Given the description of an element on the screen output the (x, y) to click on. 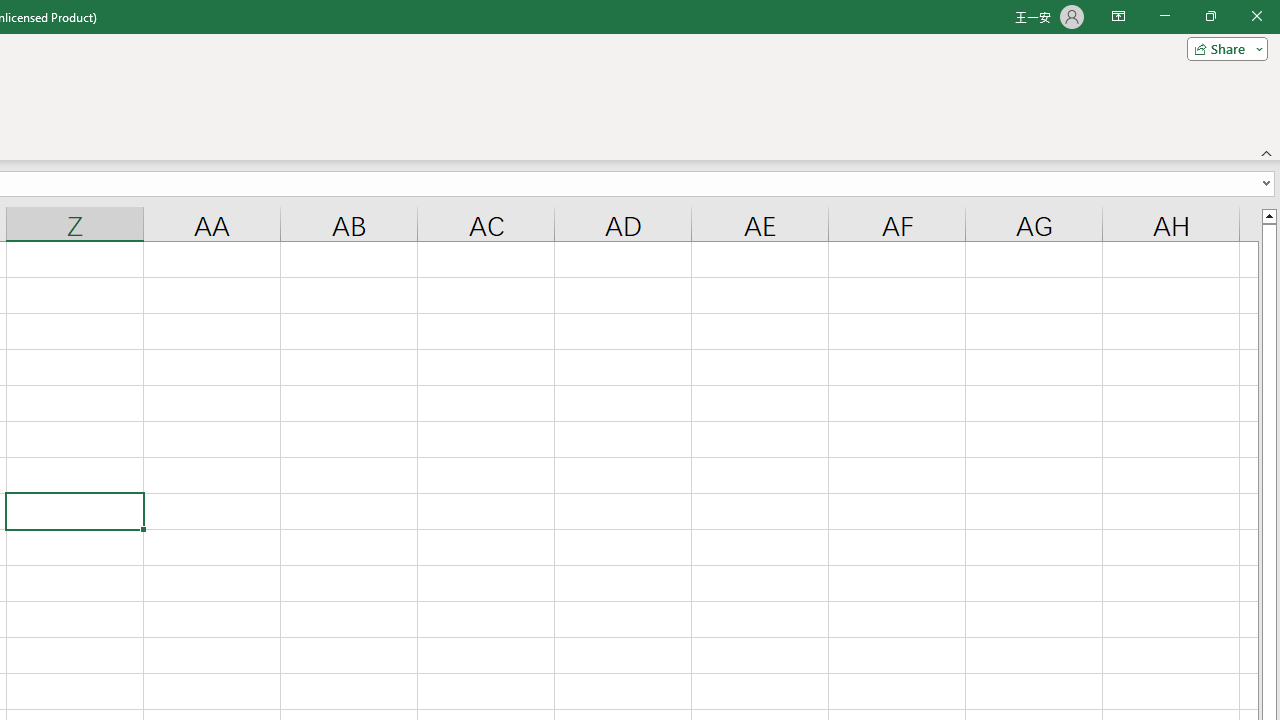
Minimize (1164, 16)
Line up (1268, 215)
Close (1256, 16)
Share (1223, 48)
Ribbon Display Options (1118, 16)
Collapse the Ribbon (1267, 152)
Restore Down (1210, 16)
